Given the description of an element on the screen output the (x, y) to click on. 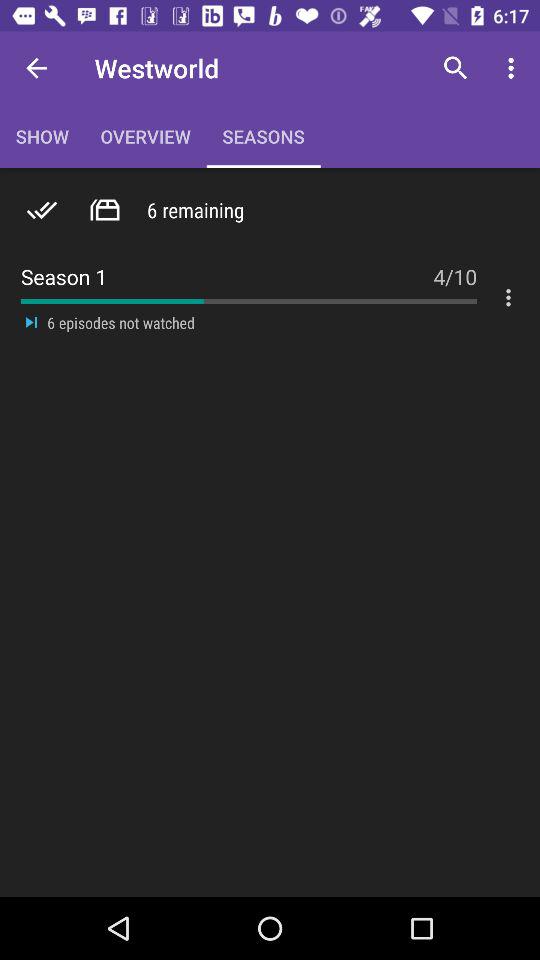
open the icon to the left of the 6 remaining icon (104, 209)
